Given the description of an element on the screen output the (x, y) to click on. 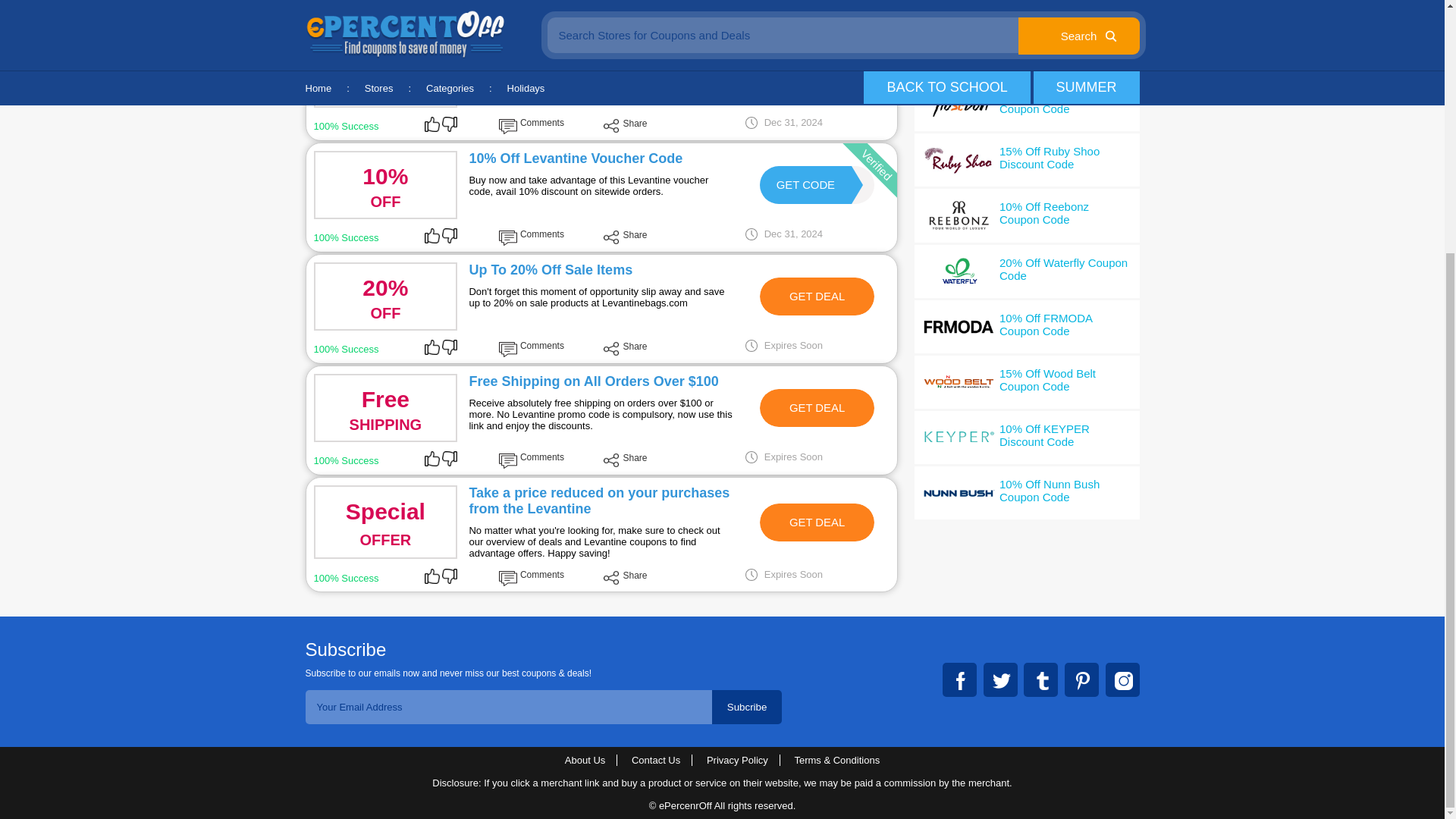
Take a price reduced on your purchases from the Levantine (598, 500)
GET DEAL (817, 296)
GET DEAL (805, 184)
Subcribe (817, 522)
GET DEAL (747, 706)
